Given the description of an element on the screen output the (x, y) to click on. 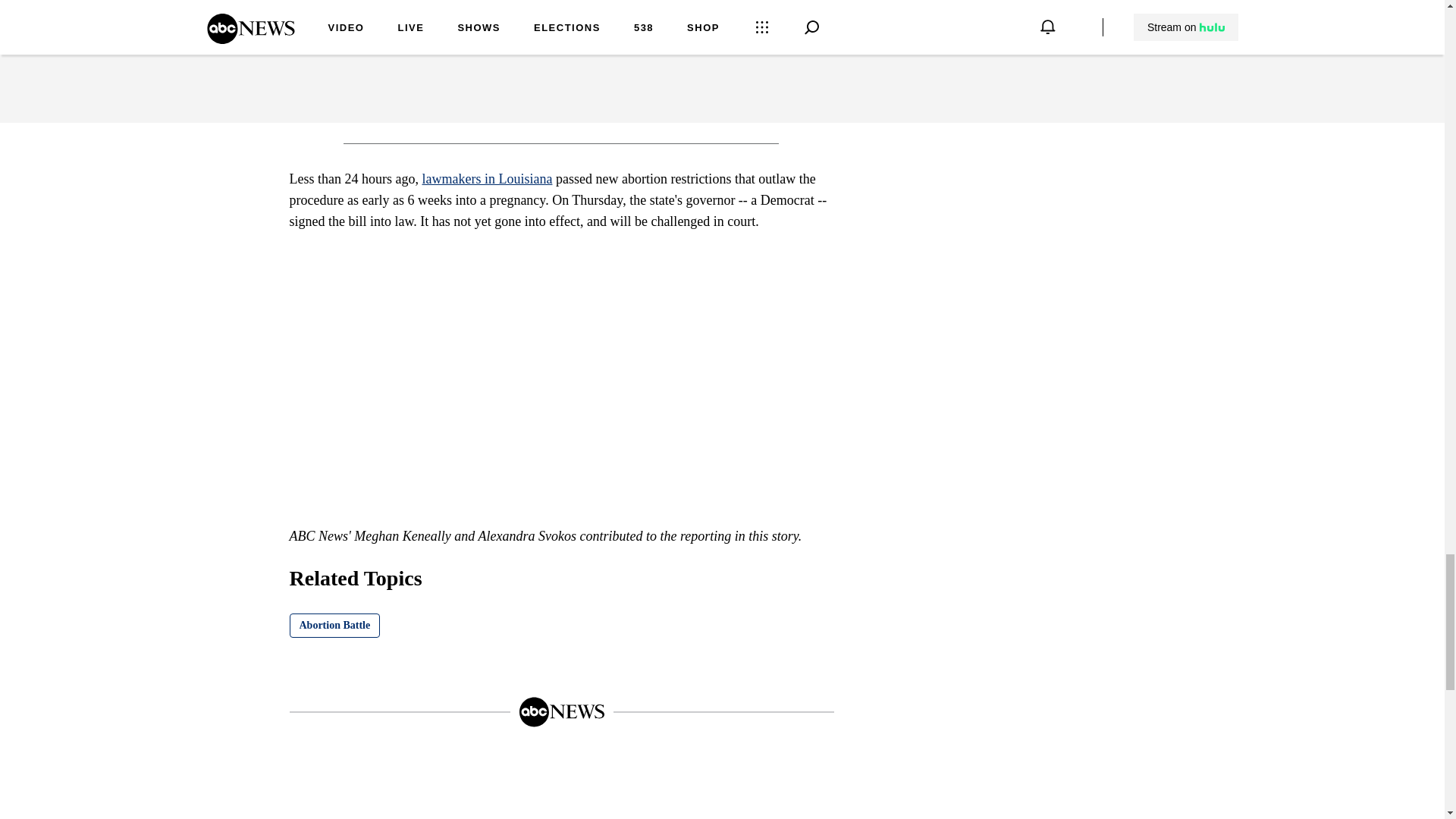
Abortion Battle (334, 625)
Last week, Gov. Parsons signed an abortion ban (556, 16)
lawmakers in Louisiana (486, 178)
